Given the description of an element on the screen output the (x, y) to click on. 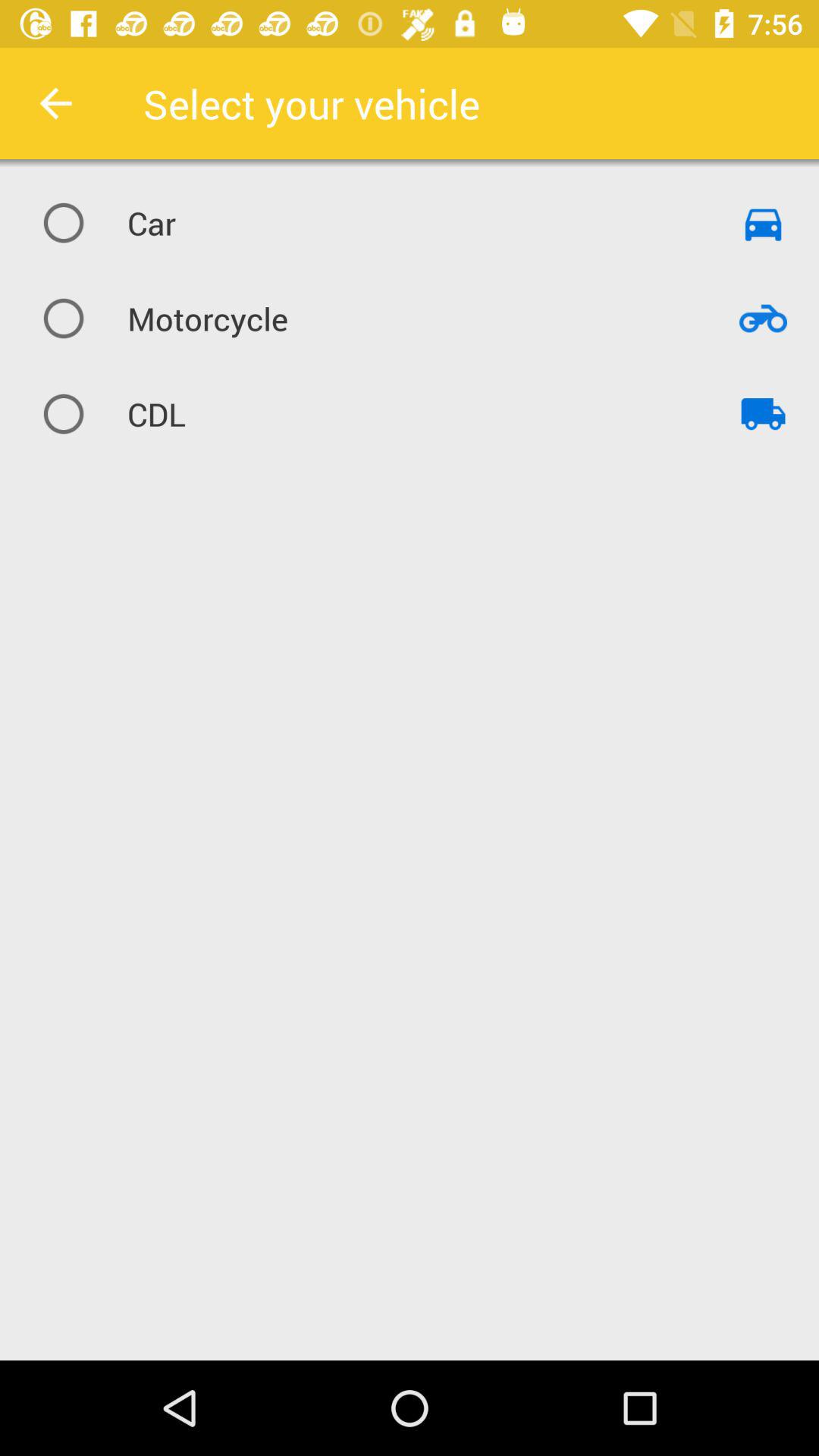
turn off the item to the left of the select your vehicle item (55, 103)
